Given the description of an element on the screen output the (x, y) to click on. 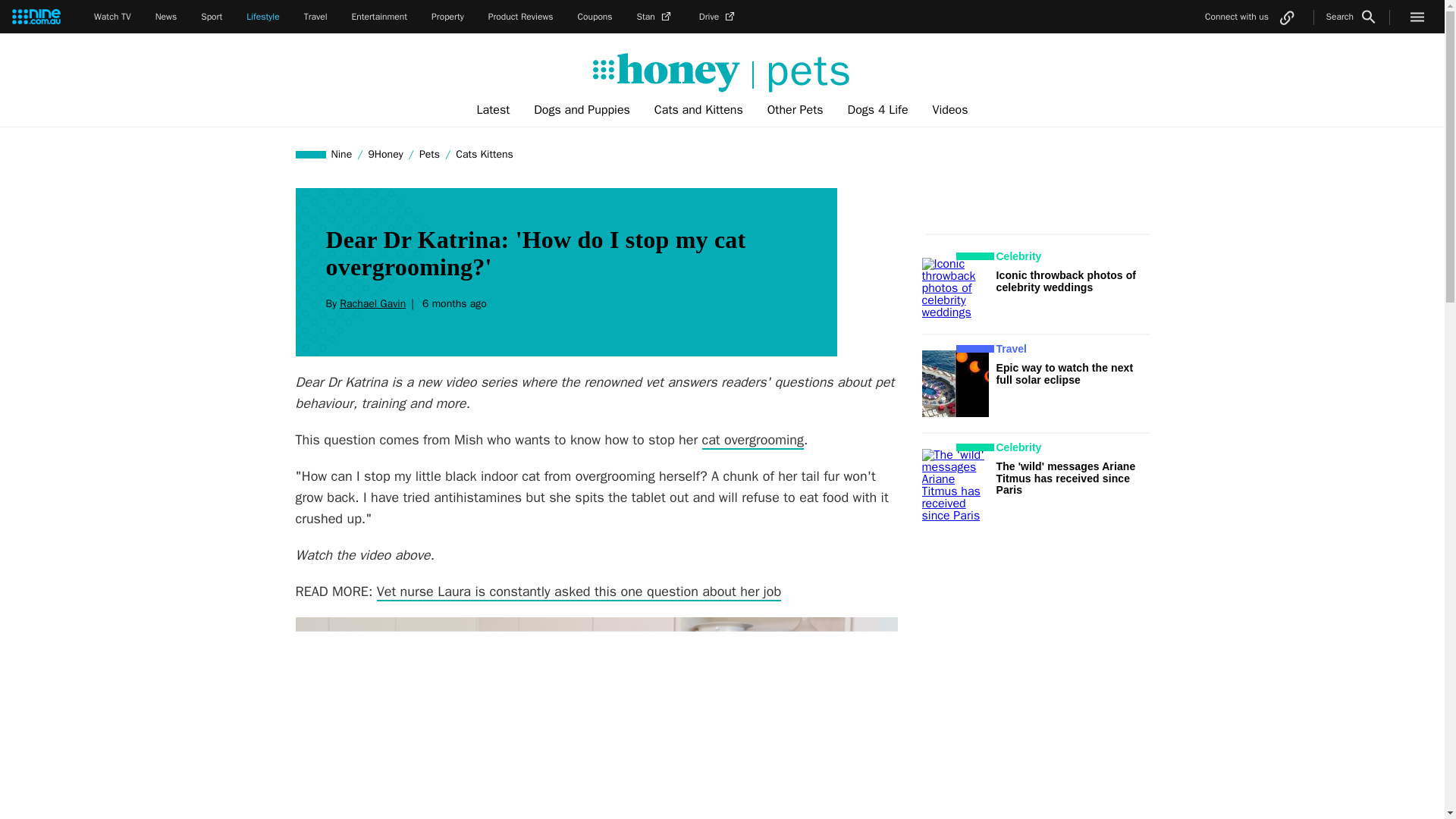
Dogs 4 Life (877, 109)
Stan (656, 16)
cat overgrooming (752, 440)
Dogs and Puppies (581, 109)
Drive (718, 16)
Pets (429, 154)
Cats and Kittens (698, 109)
Nine (342, 154)
Entertainment (379, 16)
2024-03-01 00:44 (451, 303)
